Given the description of an element on the screen output the (x, y) to click on. 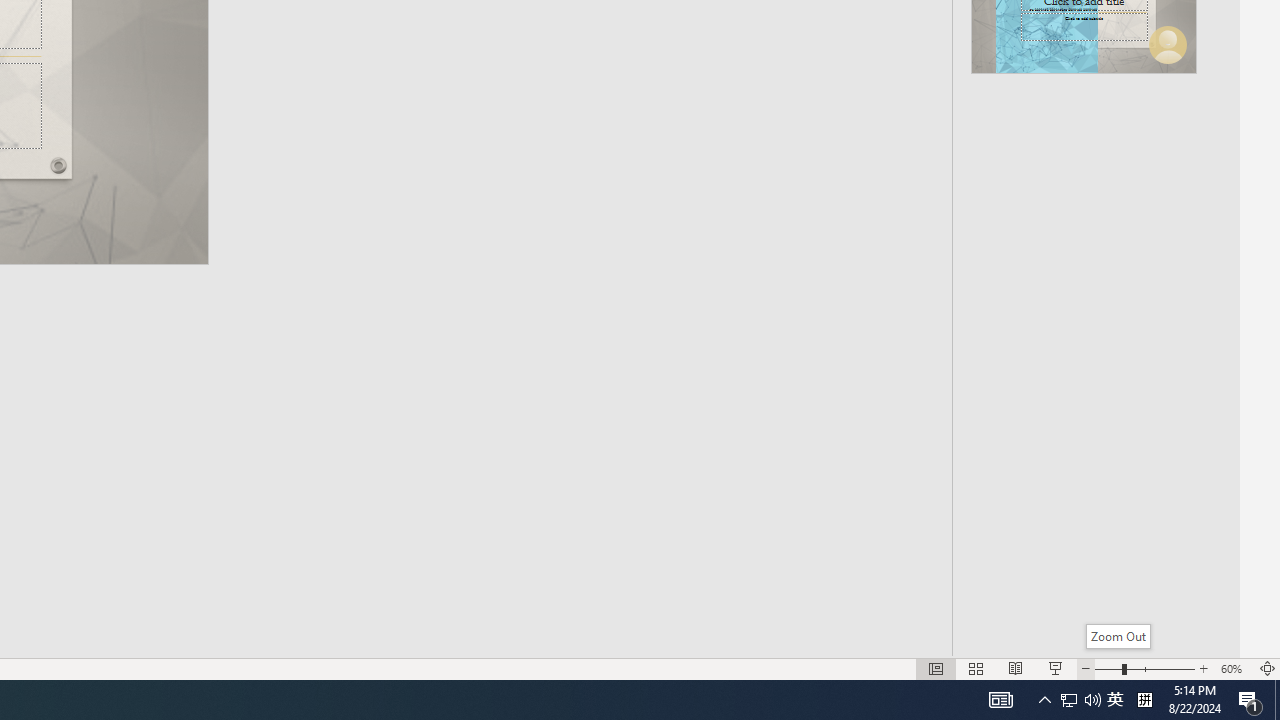
Zoom In (1204, 668)
Normal (936, 668)
Slide Sorter (975, 668)
Zoom (1144, 668)
Reading View (1015, 668)
Zoom Out (1117, 636)
Zoom Out (1108, 668)
Zoom to Fit  (1267, 668)
Zoom 60% (1234, 668)
